Given the description of an element on the screen output the (x, y) to click on. 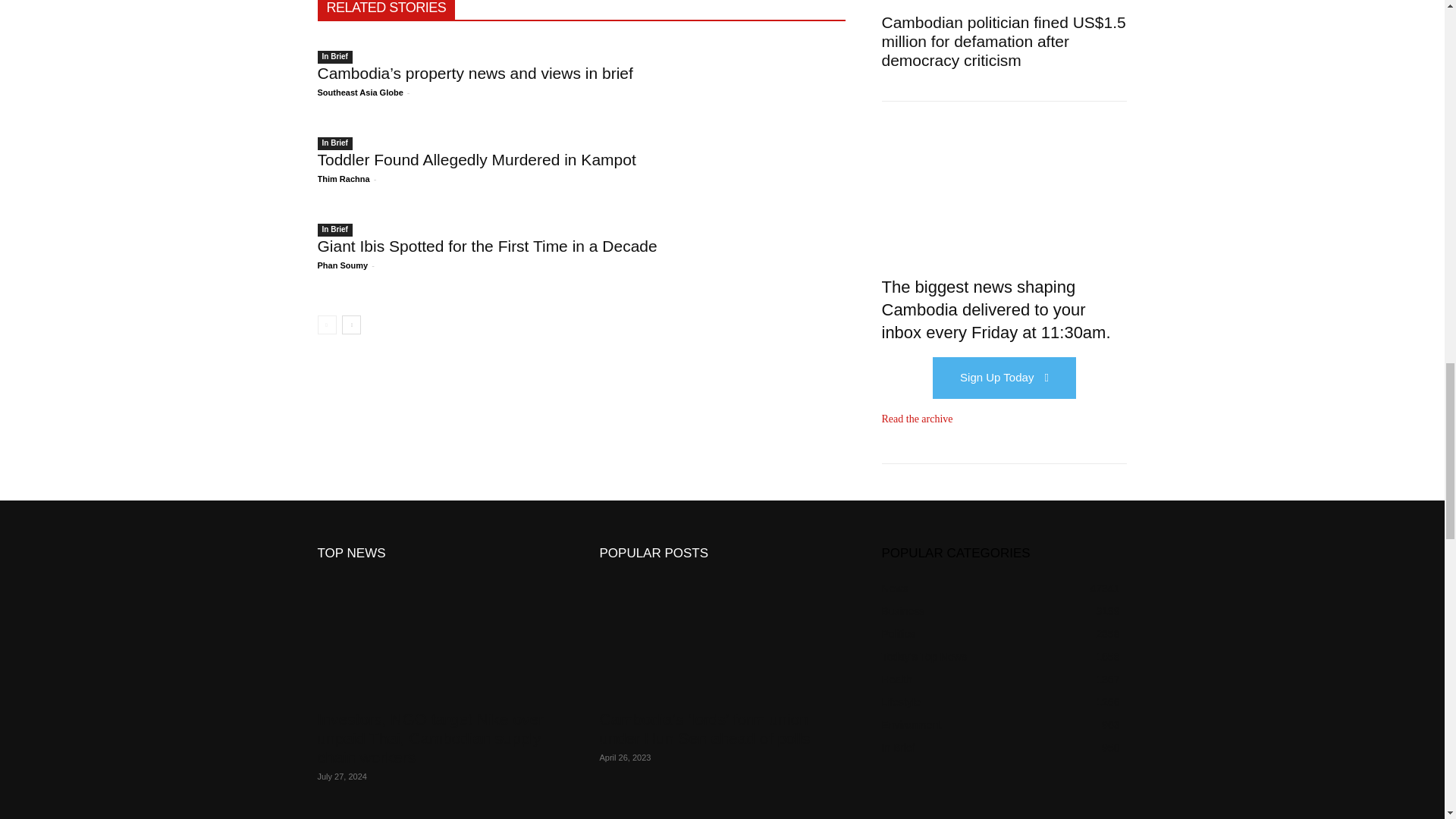
In Brief (334, 56)
Southeast Asia Globe (360, 92)
Toddler Found Allegedly Murdered in Kampot (475, 159)
Thim Rachna (343, 178)
In Brief (334, 143)
